Given the description of an element on the screen output the (x, y) to click on. 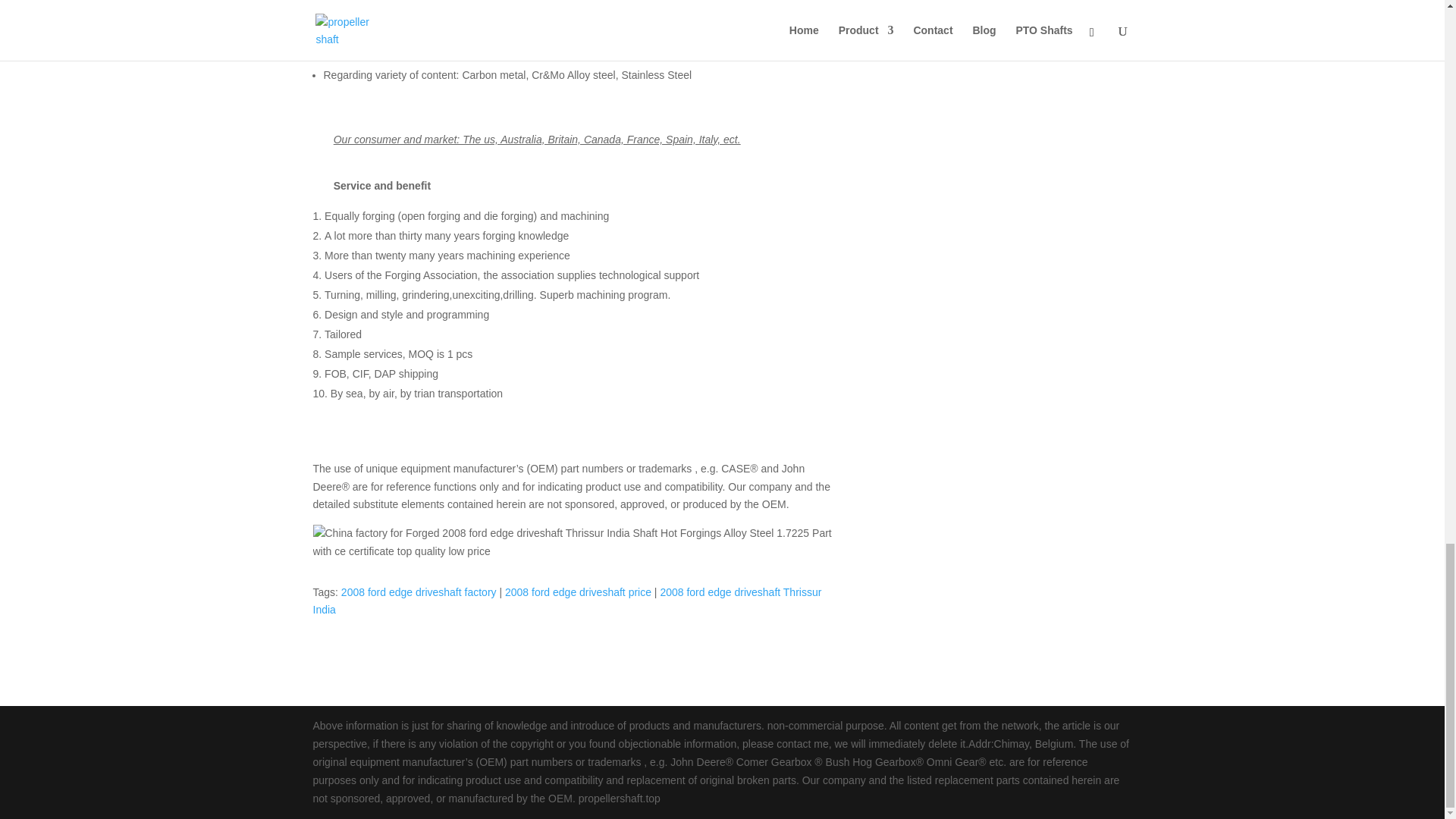
2008 ford edge driveshaft factory (418, 592)
2008 ford edge driveshaft Thrissur India (567, 601)
2008 ford edge driveshaft price (577, 592)
